Given the description of an element on the screen output the (x, y) to click on. 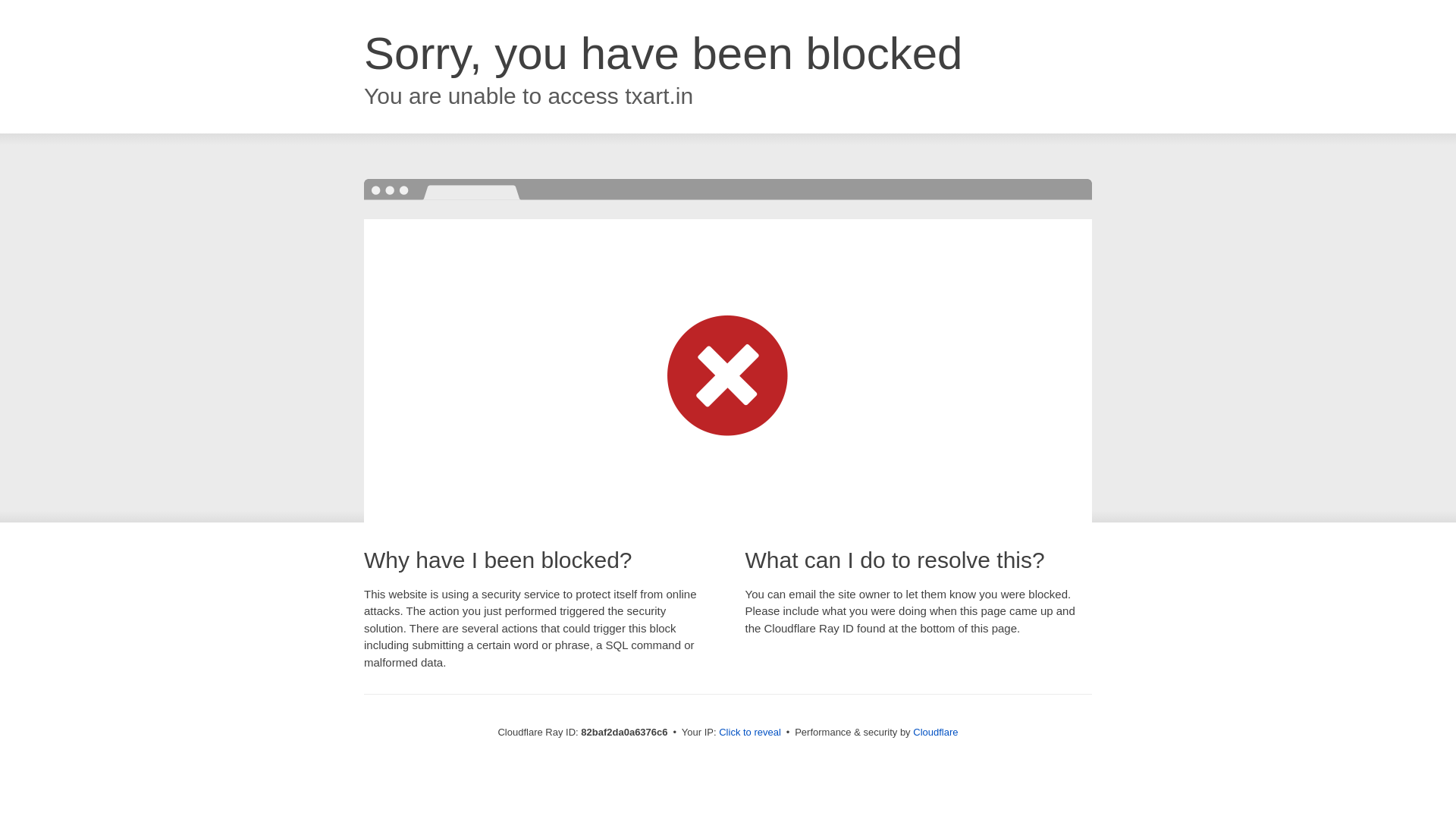
Cloudflare Element type: text (935, 731)
Click to reveal Element type: text (749, 732)
